Given the description of an element on the screen output the (x, y) to click on. 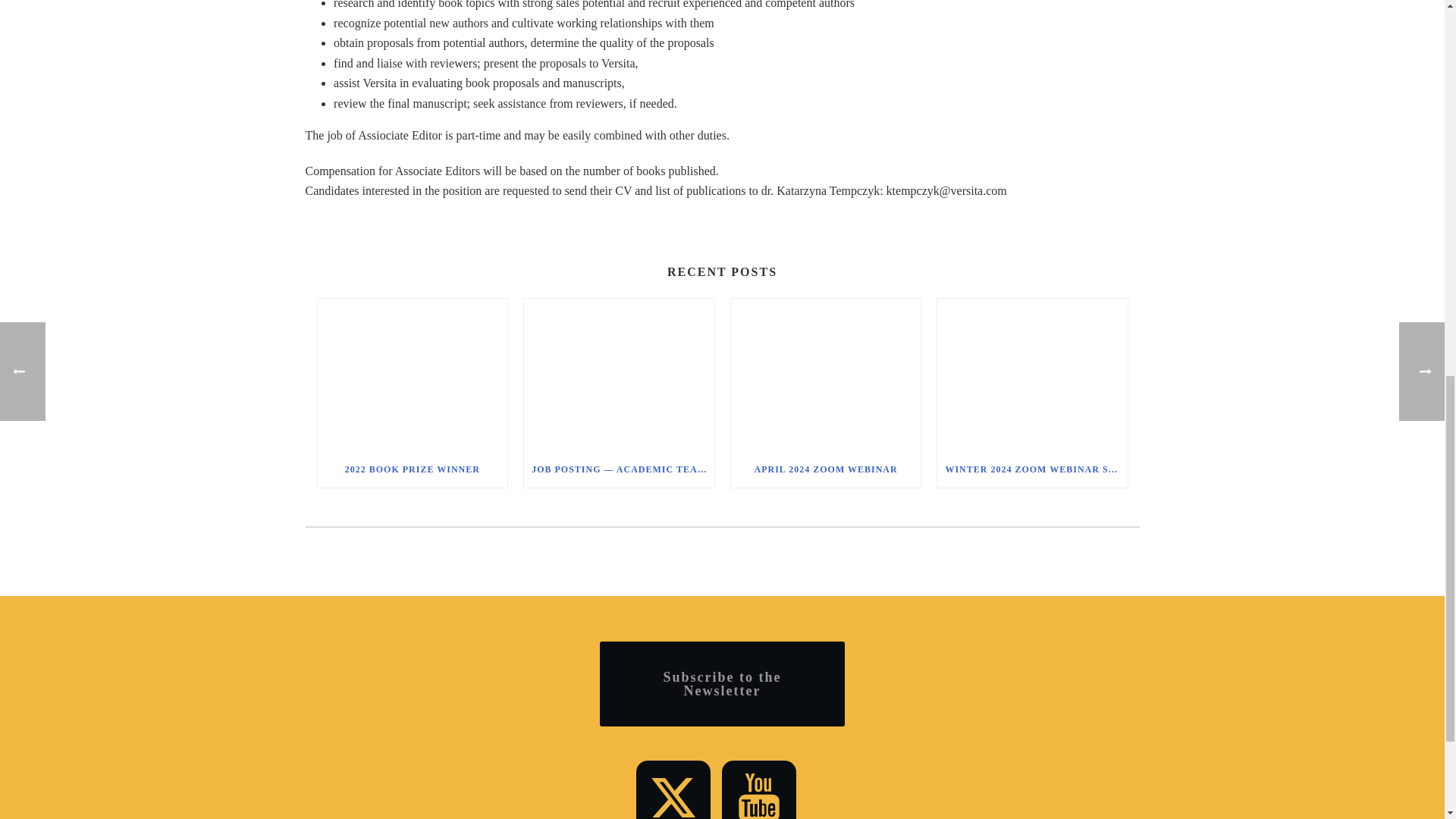
Follow Us on twitter (673, 789)
April 2024 Zoom Webinar (825, 374)
Subscribe to the Newsletter (721, 683)
2022 Book Prize Winner (411, 374)
Follow Us on youtube (759, 789)
Winter 2024 Zoom Webinar Series (1031, 374)
